Given the description of an element on the screen output the (x, y) to click on. 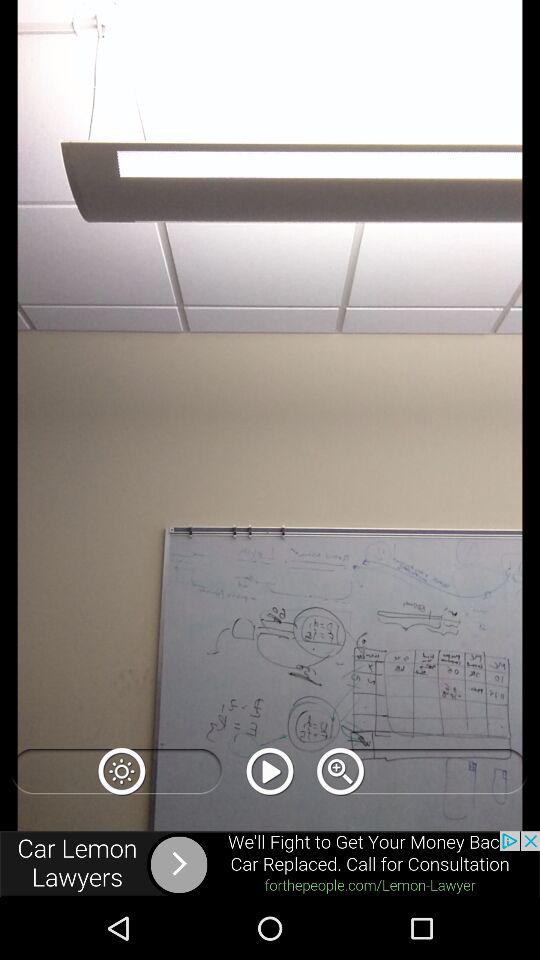
playback (269, 771)
